Given the description of an element on the screen output the (x, y) to click on. 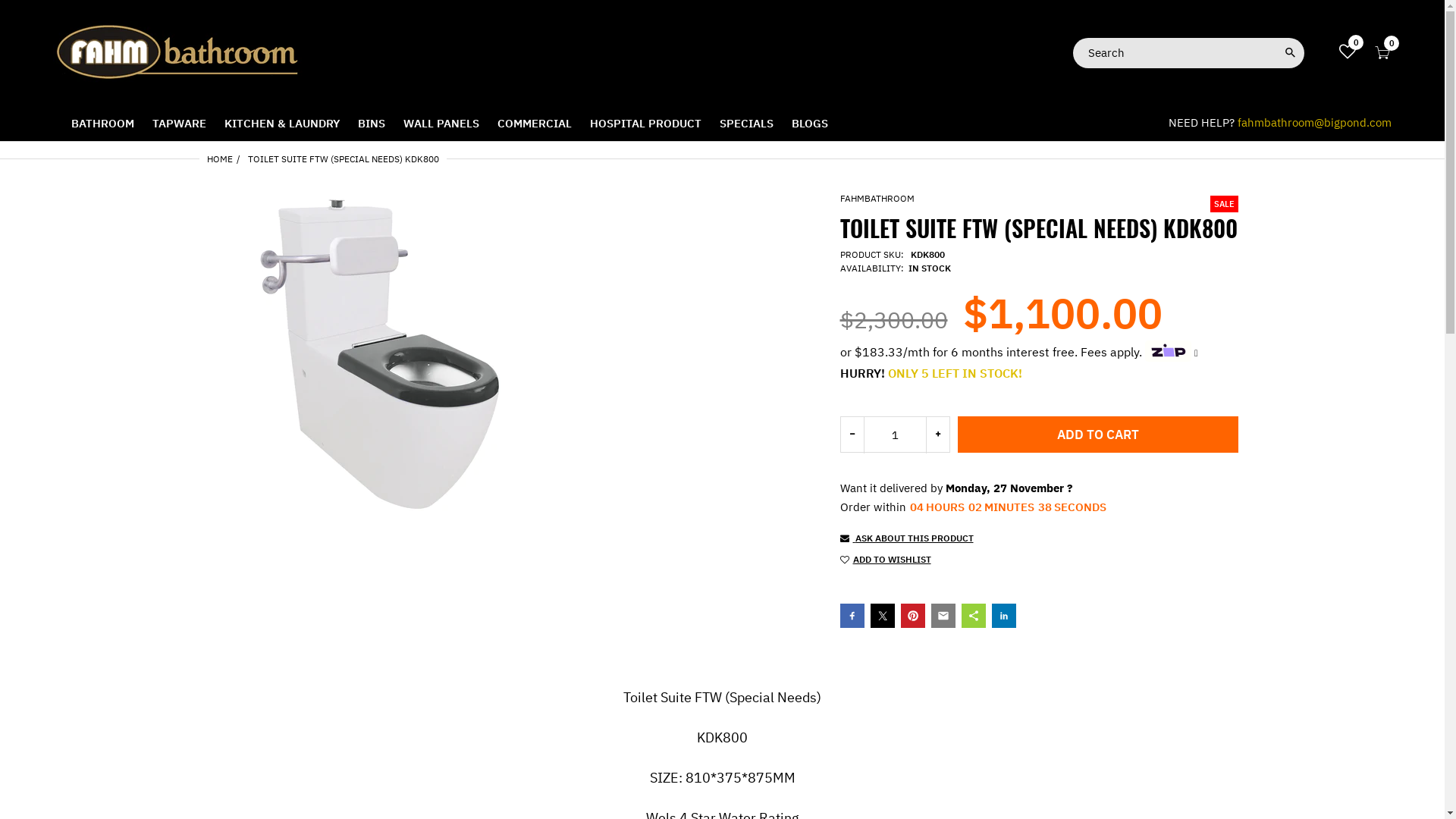
Decrease Element type: hover (851, 433)
BATHROOM Element type: text (102, 122)
ADD TO CART Element type: text (1097, 434)
SPECIALS Element type: text (746, 122)
TAPWARE Element type: text (179, 122)
0 Element type: text (1382, 54)
COMMERCIAL Element type: text (534, 122)
KITCHEN & LAUNDRY Element type: text (281, 122)
Fahm Bathroom Element type: hover (178, 50)
HOSPITAL PRODUCT Element type: text (645, 122)
Increase Element type: hover (937, 433)
WALL PANELS Element type: text (441, 122)
ASK ABOUT THIS PRODUCT Element type: text (1039, 541)
0 Element type: text (1347, 52)
HOME Element type: text (219, 158)
fahmbathroom@bigpond.com Element type: text (1314, 122)
BLOGS Element type: text (809, 122)
BINS Element type: text (371, 122)
ADD TO WISHLIST Element type: text (1027, 562)
FAHMBATHROOM Element type: text (877, 197)
